Given the description of an element on the screen output the (x, y) to click on. 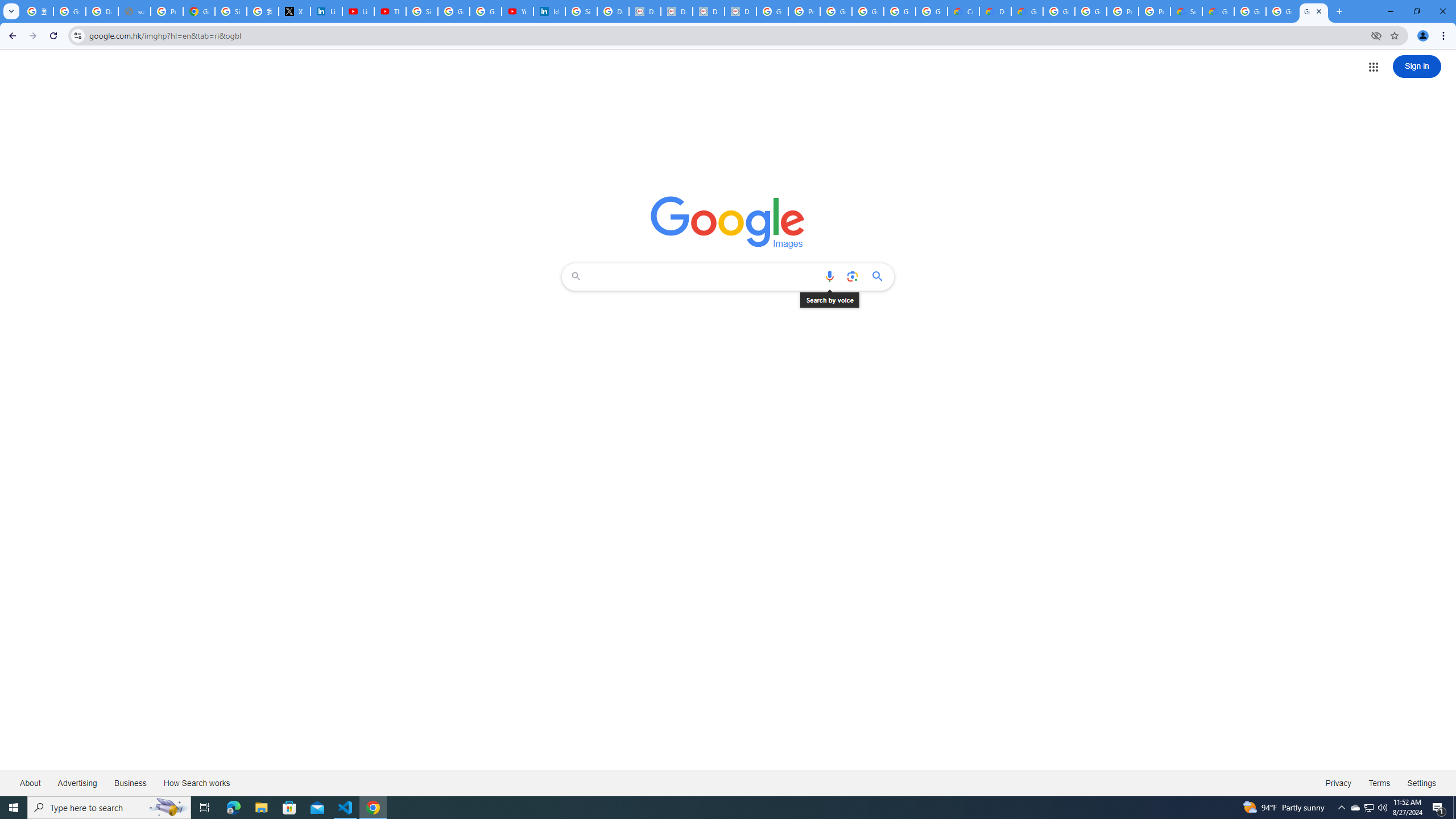
Data Privacy Framework (676, 11)
X (294, 11)
Sign in - Google Accounts (230, 11)
Google Images (1313, 11)
Business (129, 782)
